Given the description of an element on the screen output the (x, y) to click on. 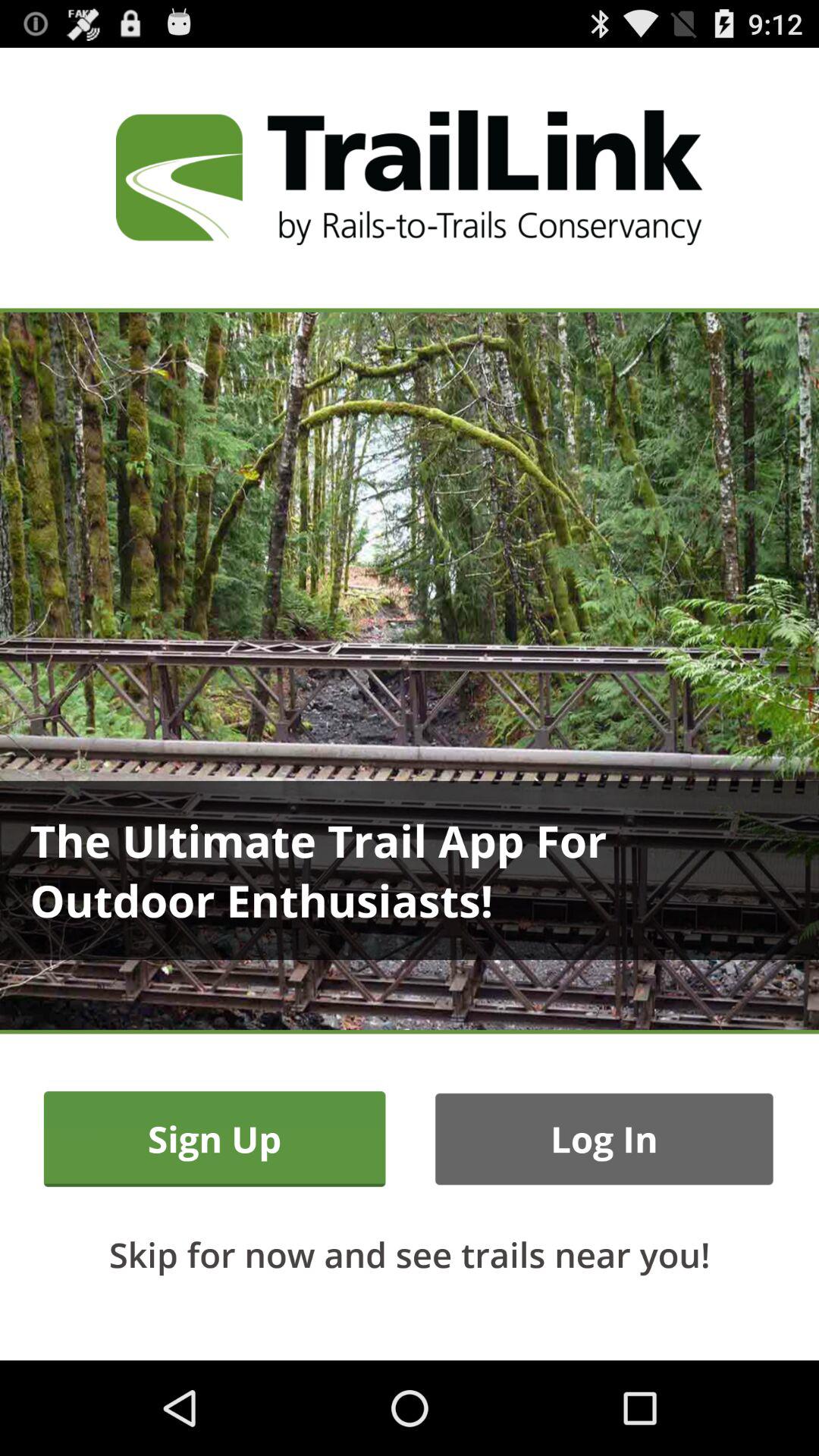
select log in item (604, 1138)
